Given the description of an element on the screen output the (x, y) to click on. 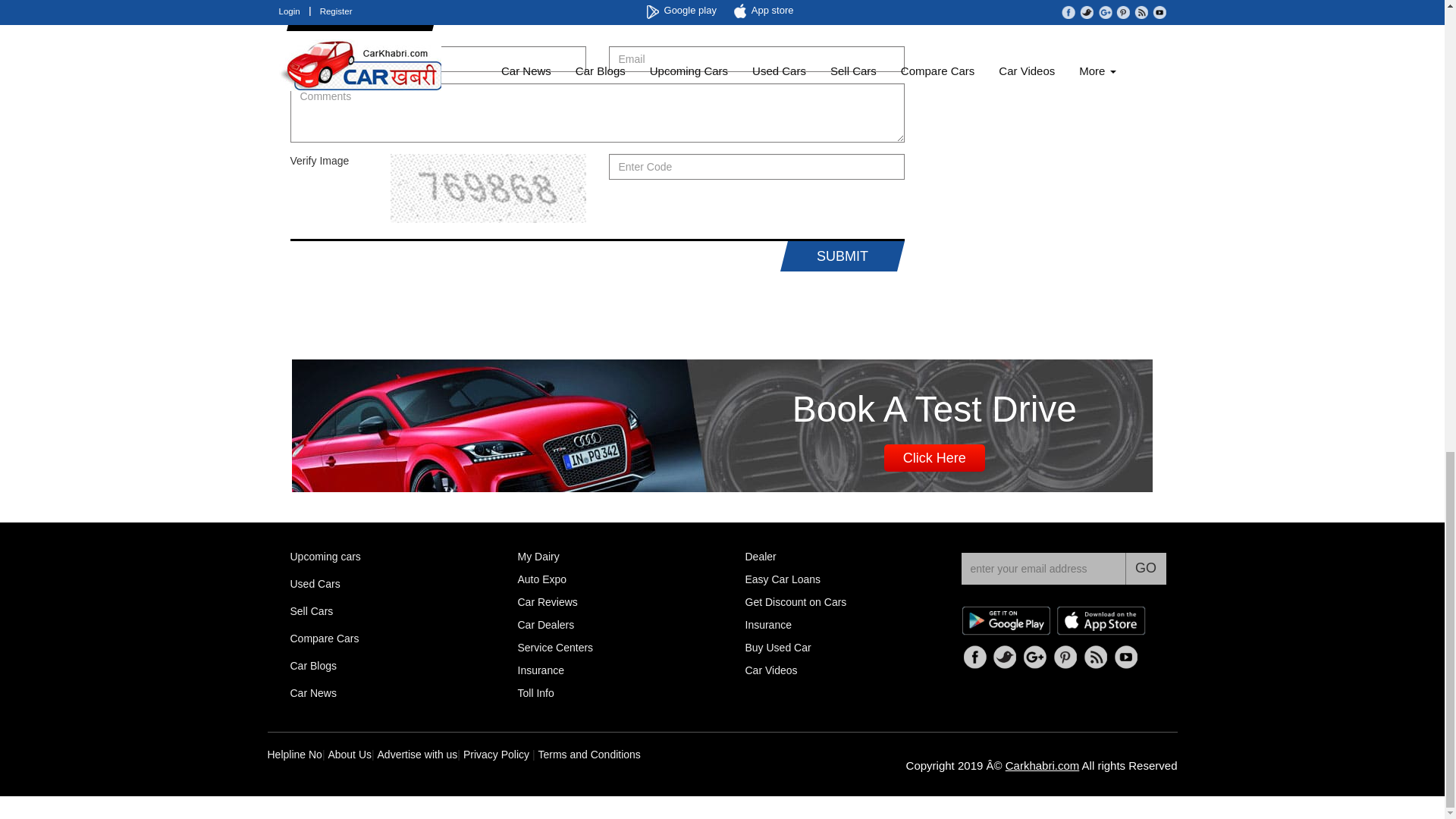
Privacy Policy (496, 754)
Upcoming cars (324, 556)
Used Cars (314, 583)
Advertise with us (417, 754)
Terms and Conditions (588, 754)
About Us (349, 754)
Car Loans (782, 579)
Compare Cars (323, 638)
Discount (794, 602)
Dealer (760, 556)
Click Here (934, 457)
SUBMIT (838, 255)
Sell Cars (311, 610)
